Given the description of an element on the screen output the (x, y) to click on. 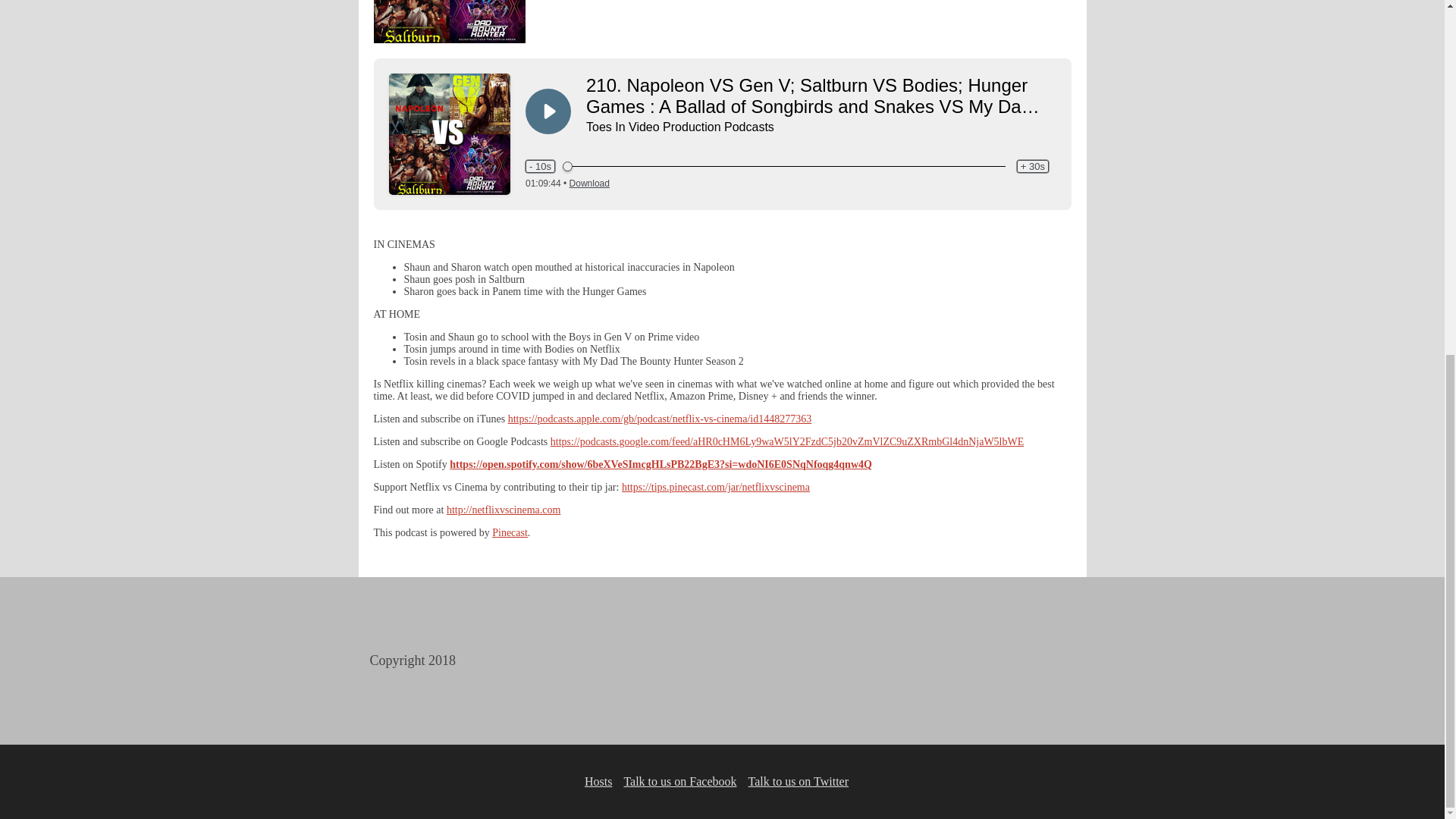
Hosts (598, 780)
Talk to us on Twitter (798, 780)
Pinecast (509, 532)
Talk to us on Facebook (679, 780)
